Given the description of an element on the screen output the (x, y) to click on. 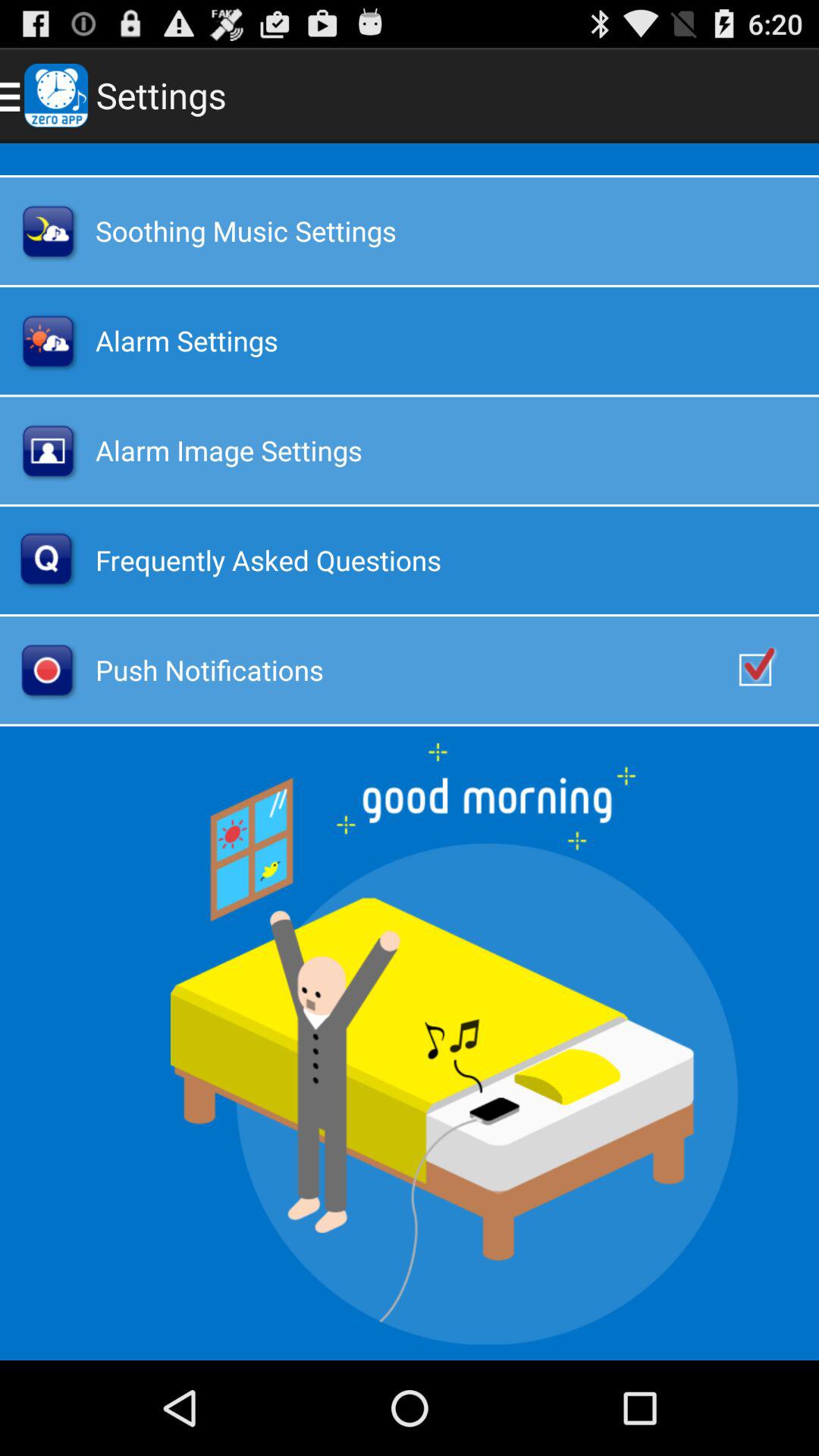
turn on the icon on the right (771, 670)
